Given the description of an element on the screen output the (x, y) to click on. 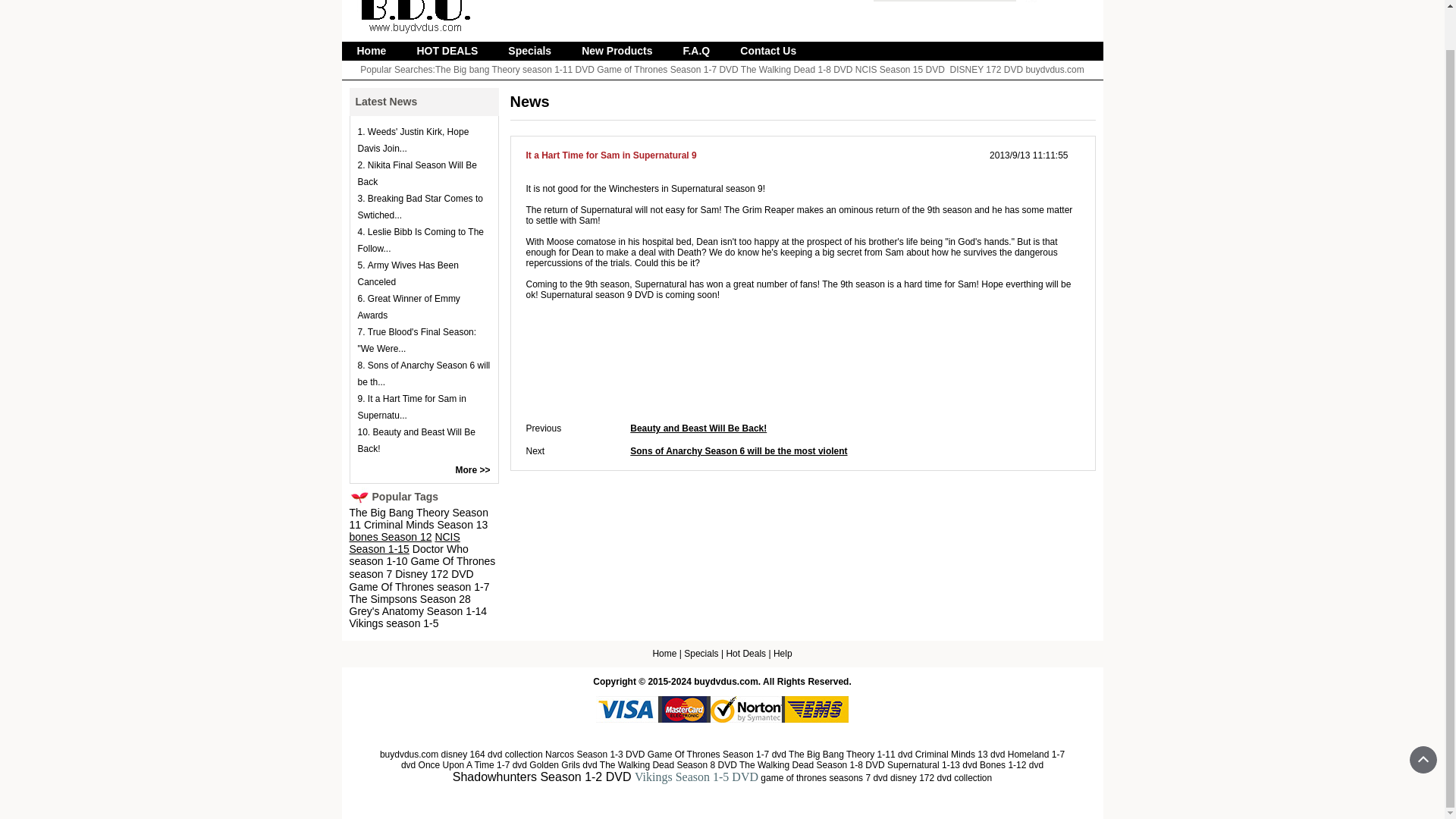
Breaking Bad Star Comes to Swtiched... (420, 206)
True Blood's Final Season: "We Were... (417, 339)
Army Wives Has Been Canceled (408, 273)
The Big bang Theory season 1-11 DVD (514, 69)
The Big bang Theory season 1-11 DVD Box Set (514, 69)
Sons of Anarchy Season 6 will be the most violent (738, 450)
Doctor Who season 1-10 (408, 555)
Sons of Anarchy Season 6 will be th... (424, 373)
NCIS Season 1-15 DVD Box Set (404, 543)
Game of Thrones Season 1-7 DVD (667, 69)
